Given the description of an element on the screen output the (x, y) to click on. 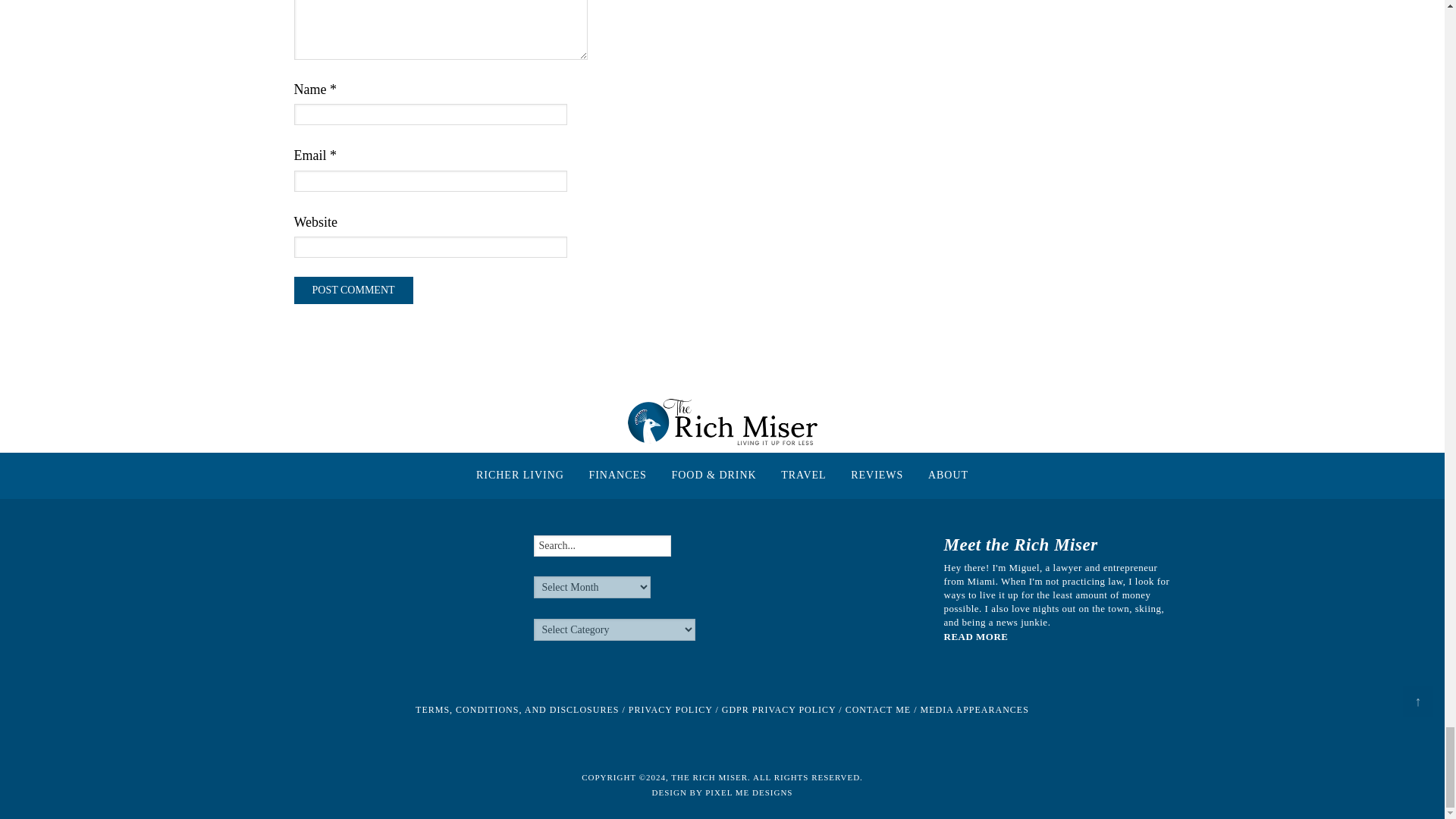
Post Comment (353, 289)
